Given the description of an element on the screen output the (x, y) to click on. 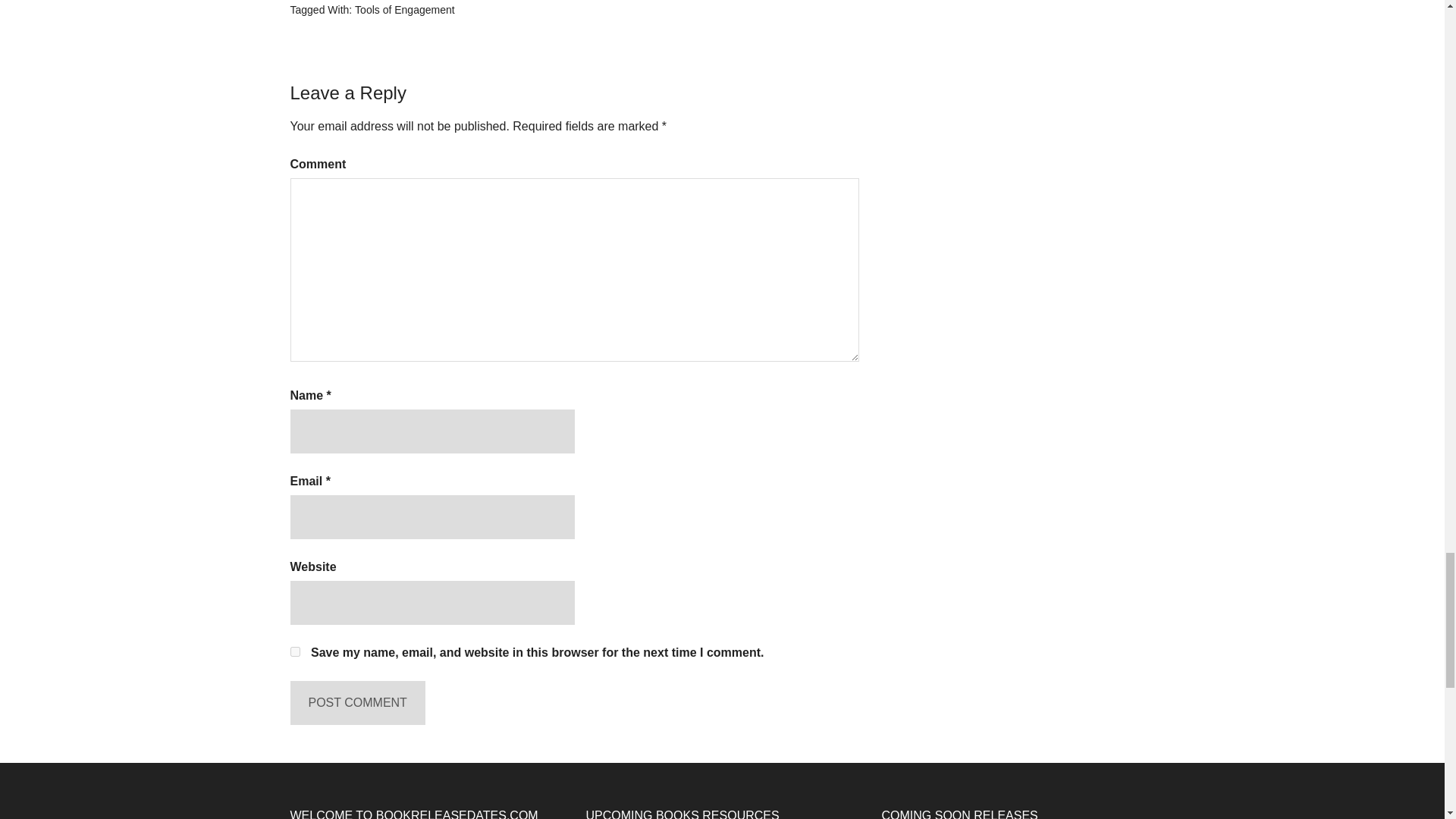
Post Comment (357, 702)
yes (294, 651)
